Given the description of an element on the screen output the (x, y) to click on. 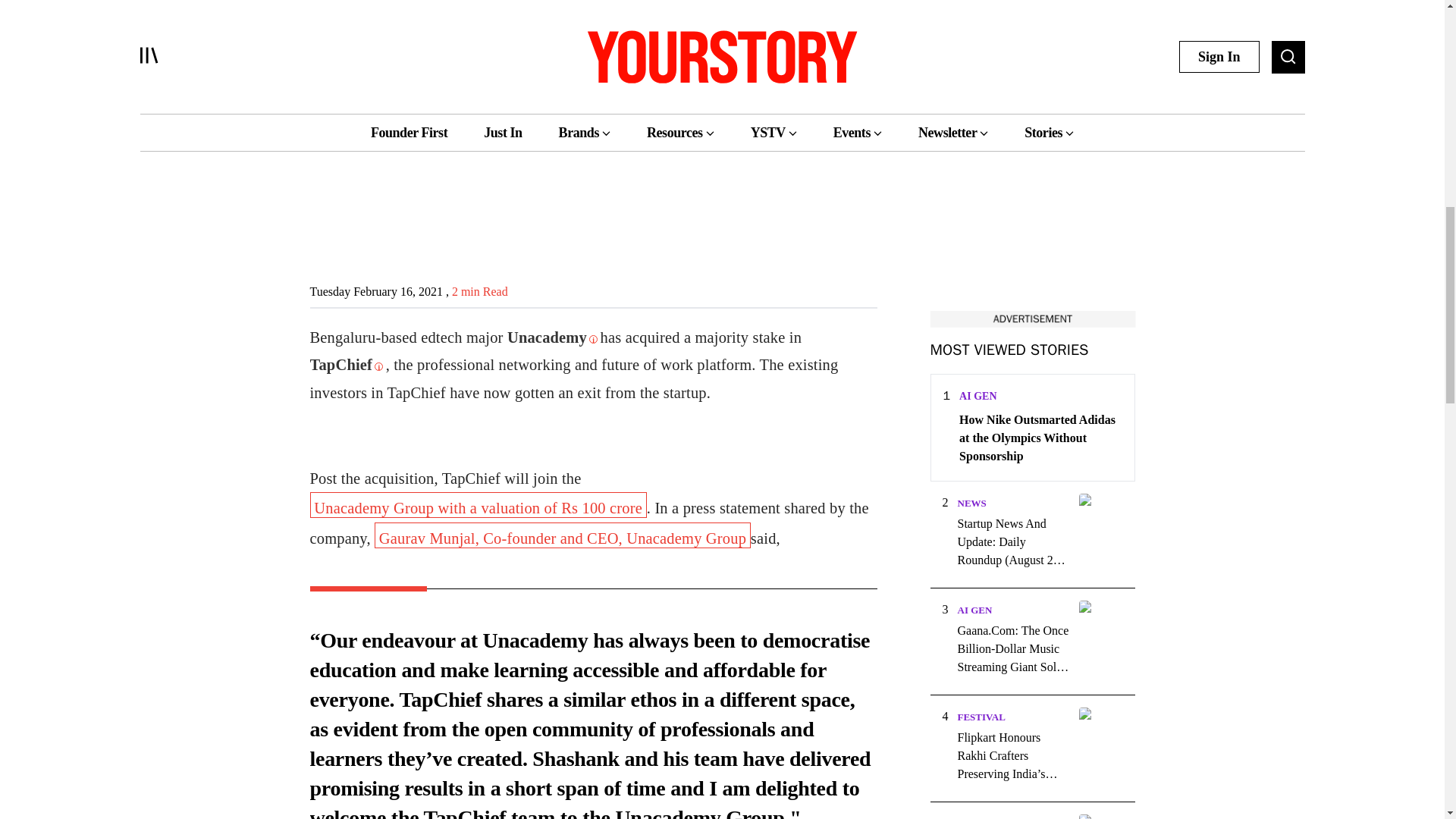
IN-FOCUS (980, 818)
Unacademy Group with a valuation of Rs 100 crore (477, 504)
FESTIVAL (980, 716)
Gaurav Munjal, Co-founder and CEO, Unacademy Group (562, 534)
AI GEN (977, 396)
Advertise with us (1032, 318)
AI GEN (973, 609)
NEWS (970, 502)
